Given the description of an element on the screen output the (x, y) to click on. 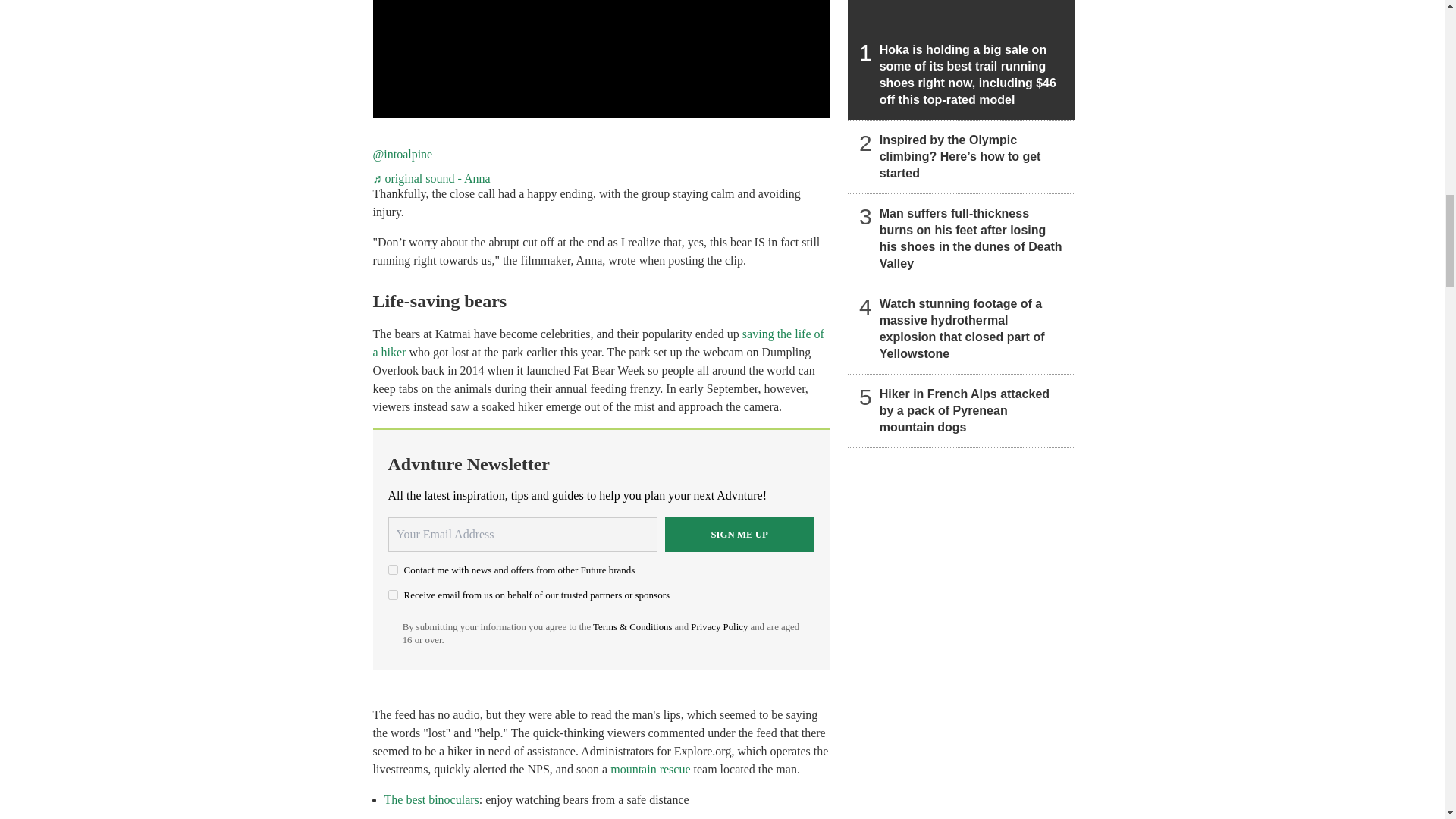
saving the life of a hiker (598, 342)
on (392, 594)
Sign me up (739, 534)
Sign me up (739, 534)
on (392, 569)
